Given the description of an element on the screen output the (x, y) to click on. 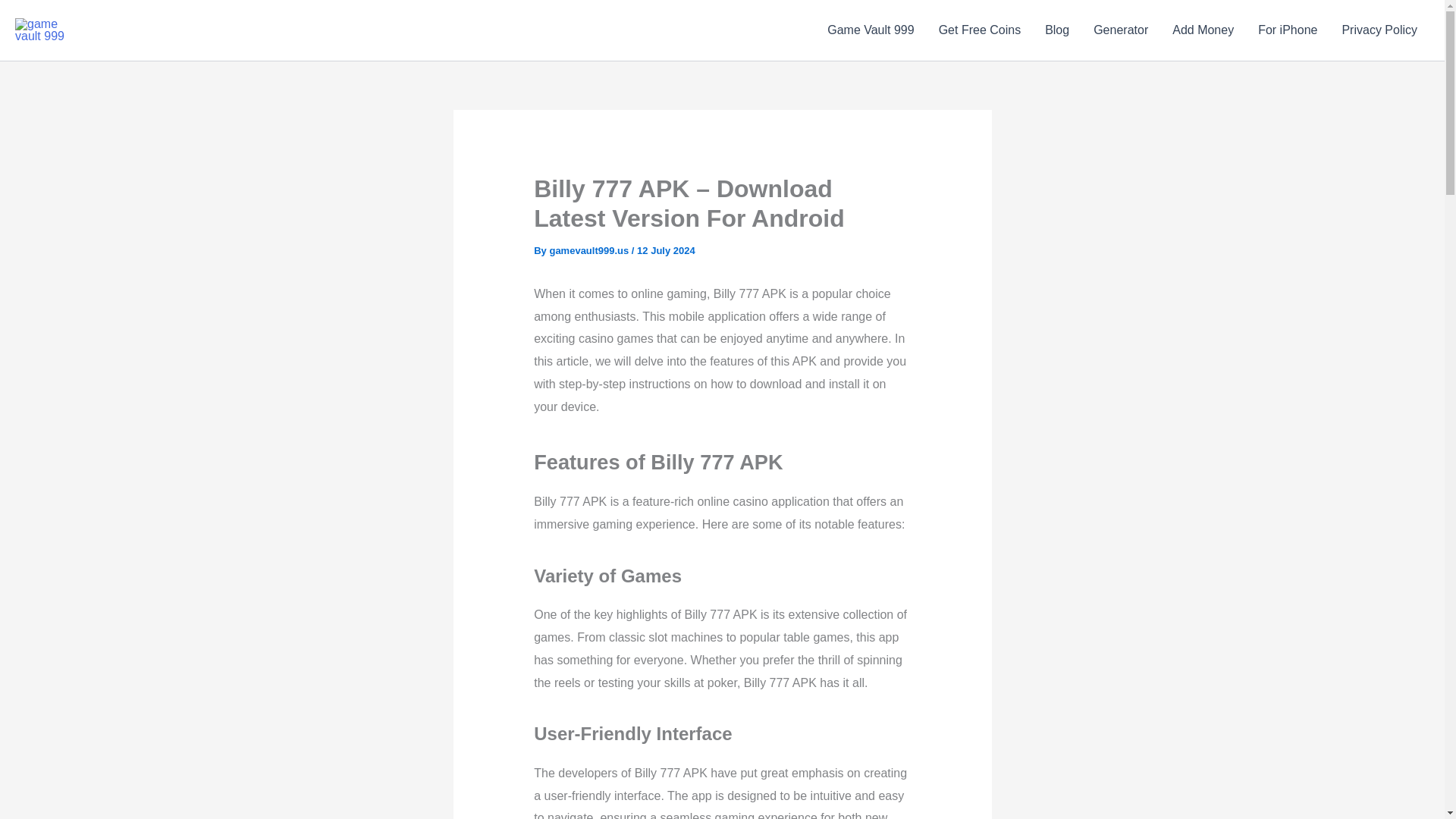
Privacy Policy (1379, 30)
For iPhone (1287, 30)
Get Free Coins (979, 30)
gamevault999.us (589, 250)
Generator (1120, 30)
View all posts by gamevault999.us (589, 250)
Game Vault 999 (870, 30)
Add Money (1203, 30)
